Given the description of an element on the screen output the (x, y) to click on. 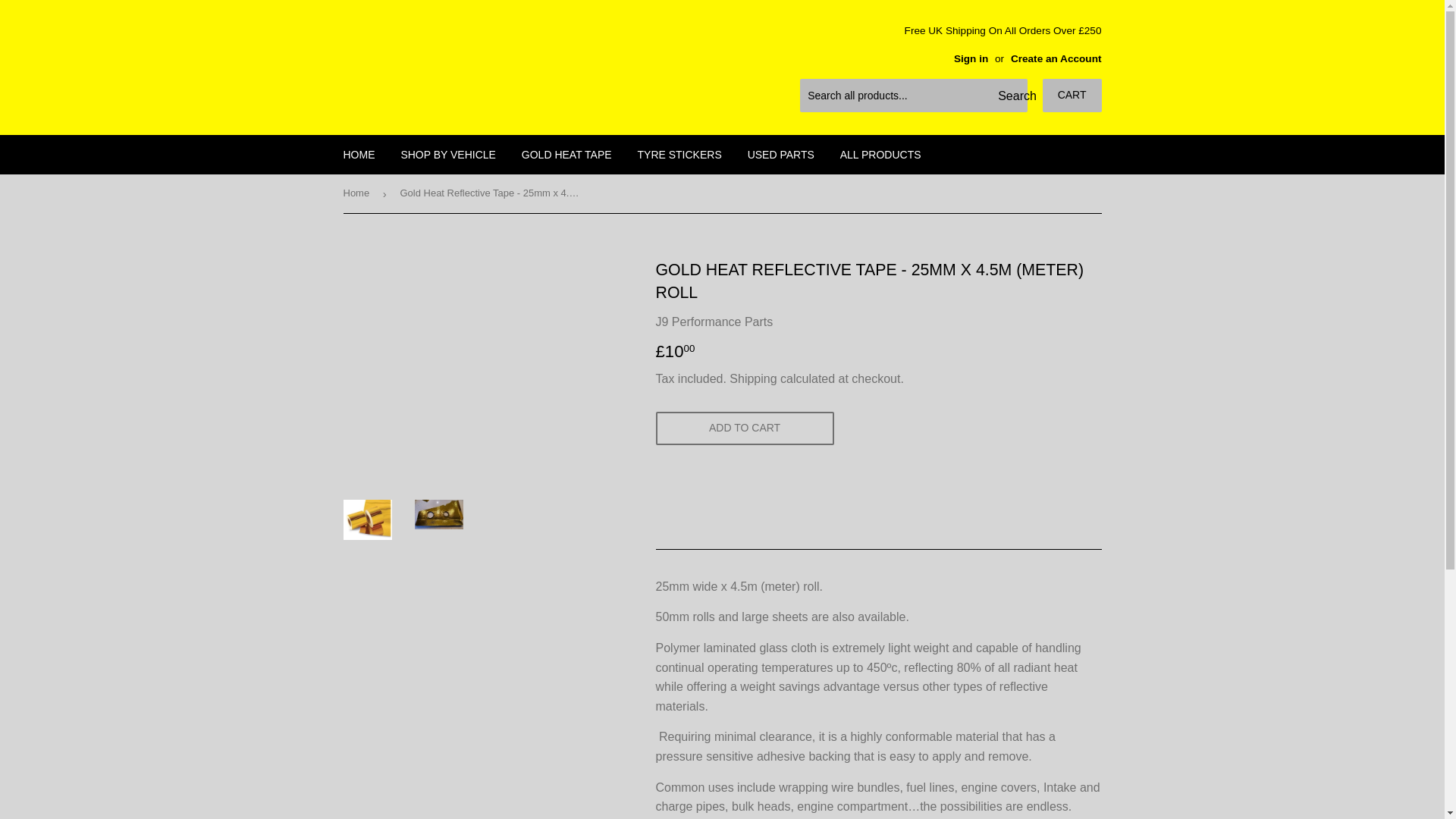
ALL PRODUCTS (880, 154)
HOME (359, 154)
SHOP BY VEHICLE (447, 154)
GOLD HEAT TAPE (567, 154)
USED PARTS (780, 154)
ADD TO CART (743, 428)
Shipping (752, 378)
TYRE STICKERS (679, 154)
CART (1072, 95)
Create an Account (1056, 58)
